Given the description of an element on the screen output the (x, y) to click on. 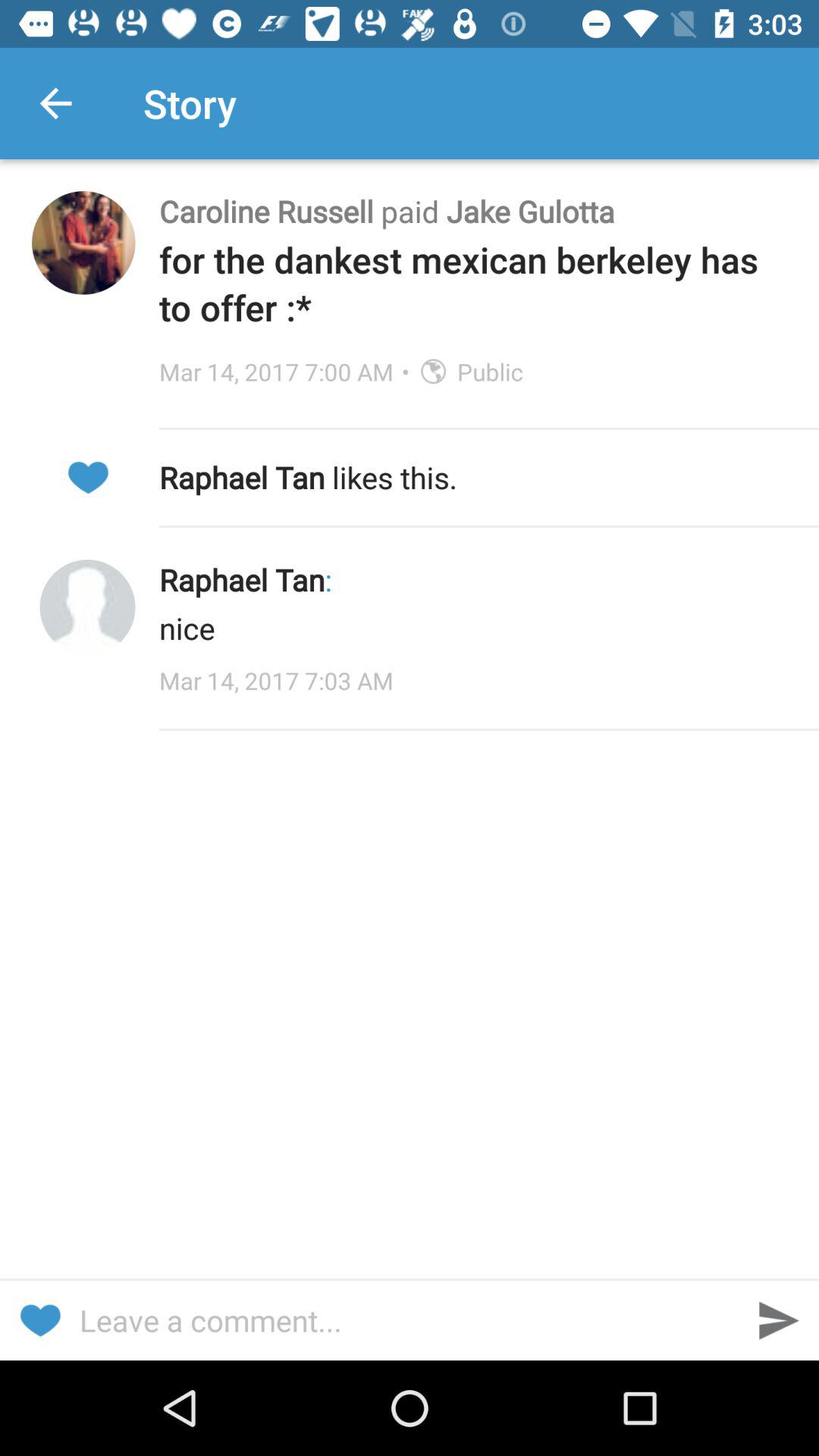
click like option (87, 477)
